Given the description of an element on the screen output the (x, y) to click on. 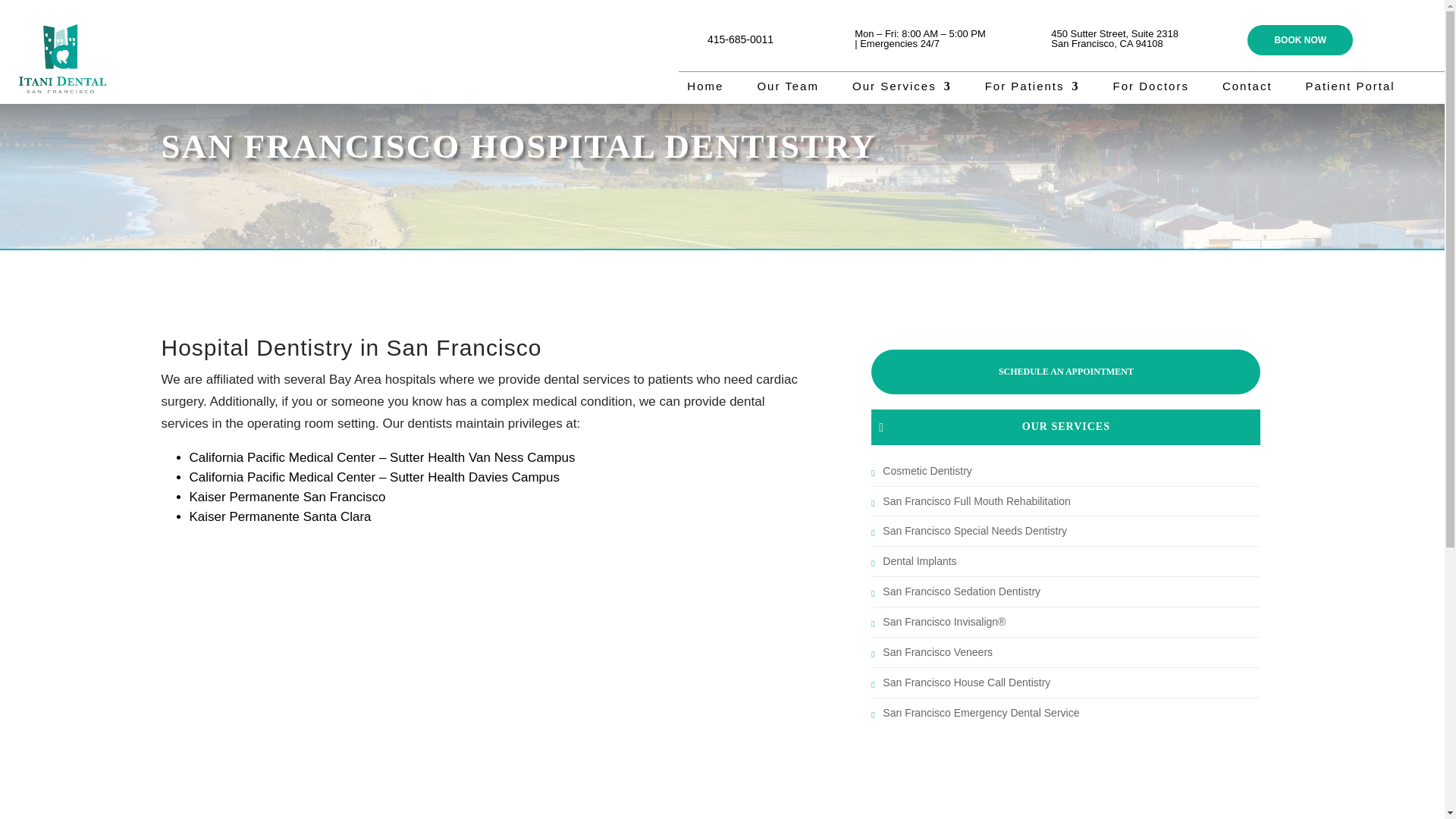
415-685-0011 (740, 39)
Patient Portal (1350, 89)
Contact (1247, 89)
San Francisco Full Mouth Rehabilitation (976, 500)
Cosmetic Dentistry (926, 470)
San Francisco Sedation Dentistry (961, 591)
Our Team (787, 89)
Home (705, 89)
BOOK NOW (1299, 40)
Dental Implants (919, 561)
